Given the description of an element on the screen output the (x, y) to click on. 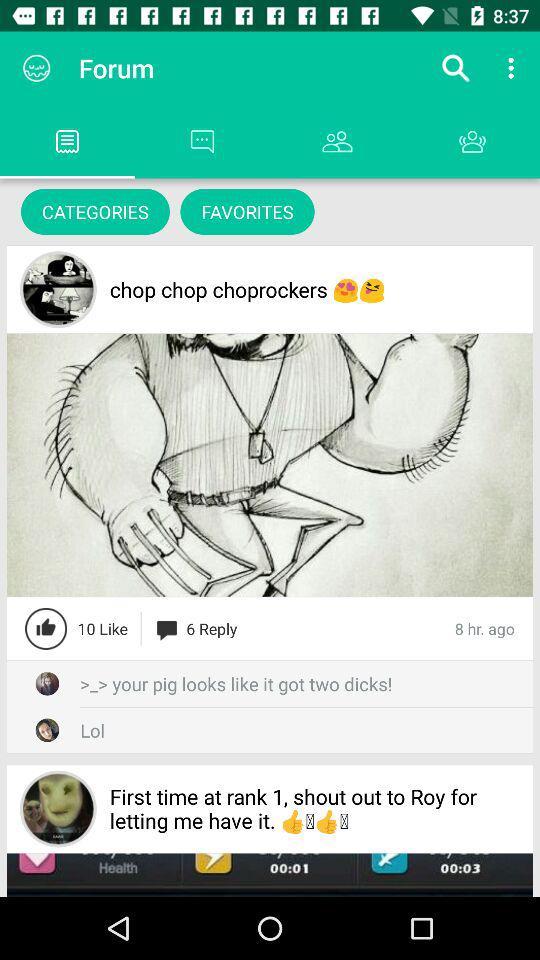
like this post (46, 628)
